Given the description of an element on the screen output the (x, y) to click on. 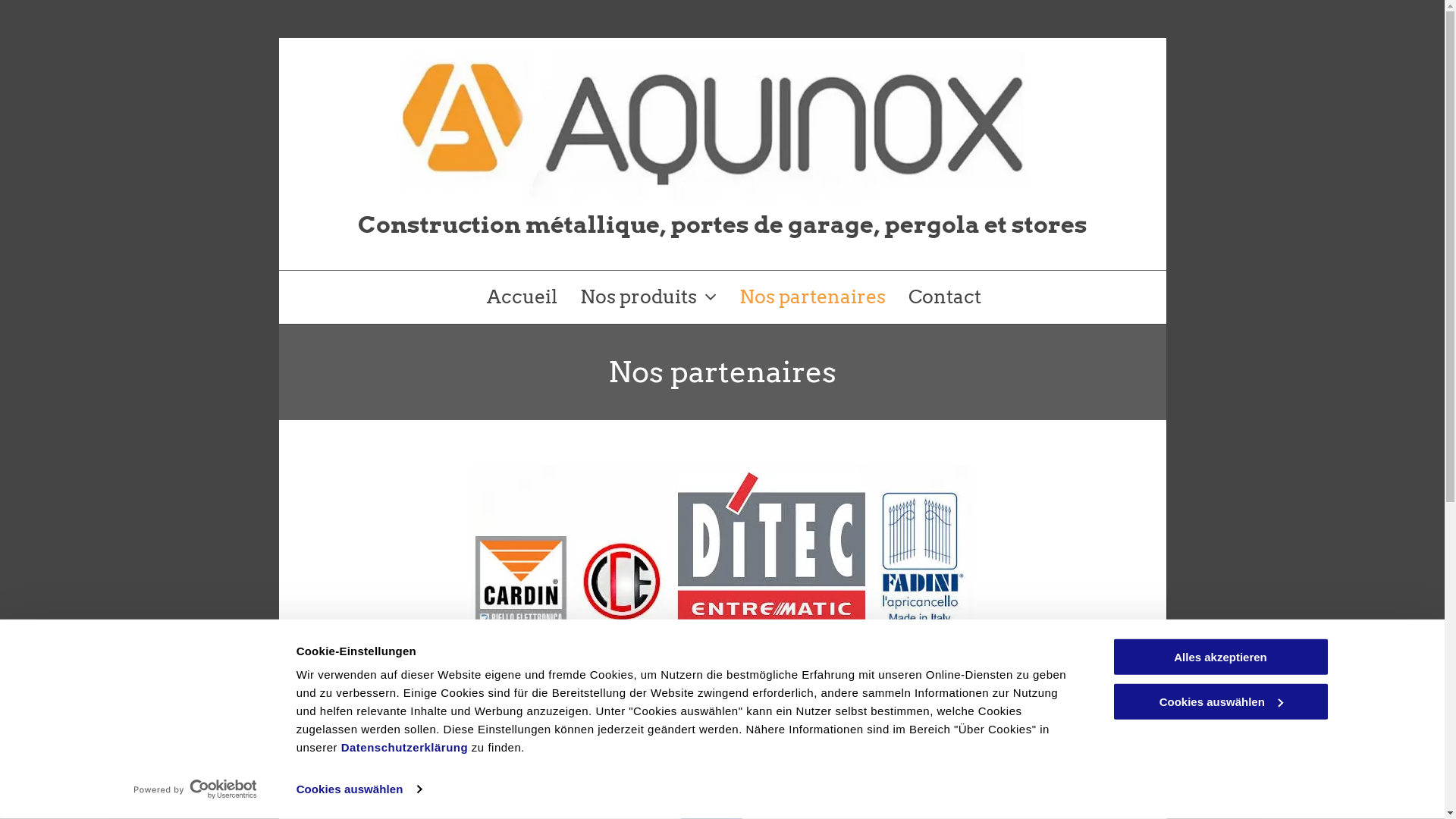
Nos partenaires Element type: text (811, 297)
Accueil Element type: text (521, 297)
Alles akzeptieren Element type: text (1219, 656)
Nos produits Element type: text (647, 297)
Contact Element type: text (944, 297)
